Given the description of an element on the screen output the (x, y) to click on. 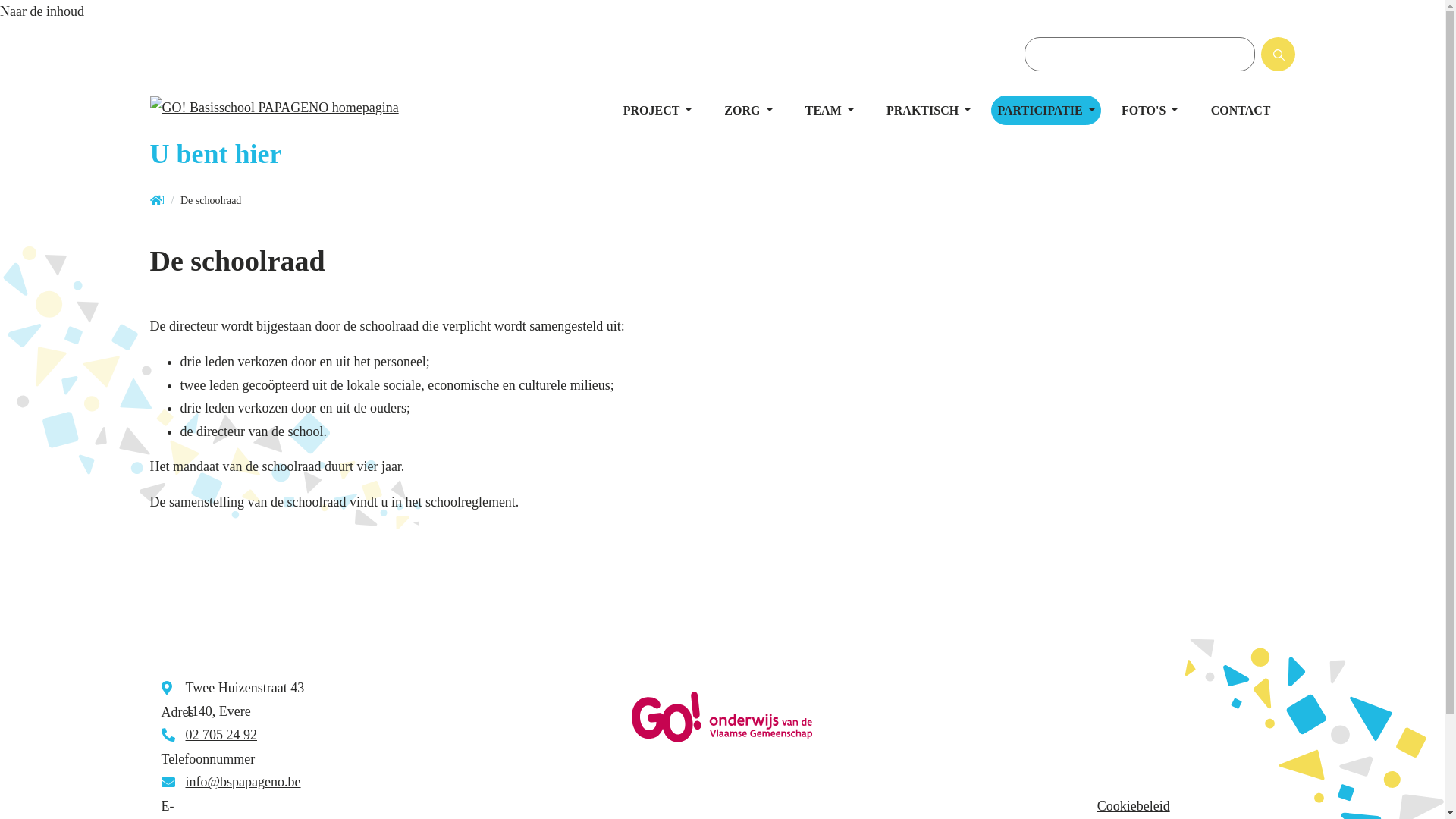
TEAM Element type: text (829, 110)
info@bspapageno.be Element type: text (242, 781)
Cookiebeleid Element type: text (1133, 805)
CONTACT Element type: text (1240, 110)
Zoeken Element type: text (1291, 59)
FOTO'S Element type: text (1149, 110)
PARTICIPATIE Element type: text (1045, 110)
Naar de inhoud Element type: text (42, 10)
PRAKTISCH Element type: text (928, 110)
ZORG Element type: text (748, 110)
PROJECT Element type: text (657, 110)
Home Element type: text (156, 200)
Ga naar de homepage Element type: hover (301, 110)
02 705 24 92 Element type: text (221, 734)
